Given the description of an element on the screen output the (x, y) to click on. 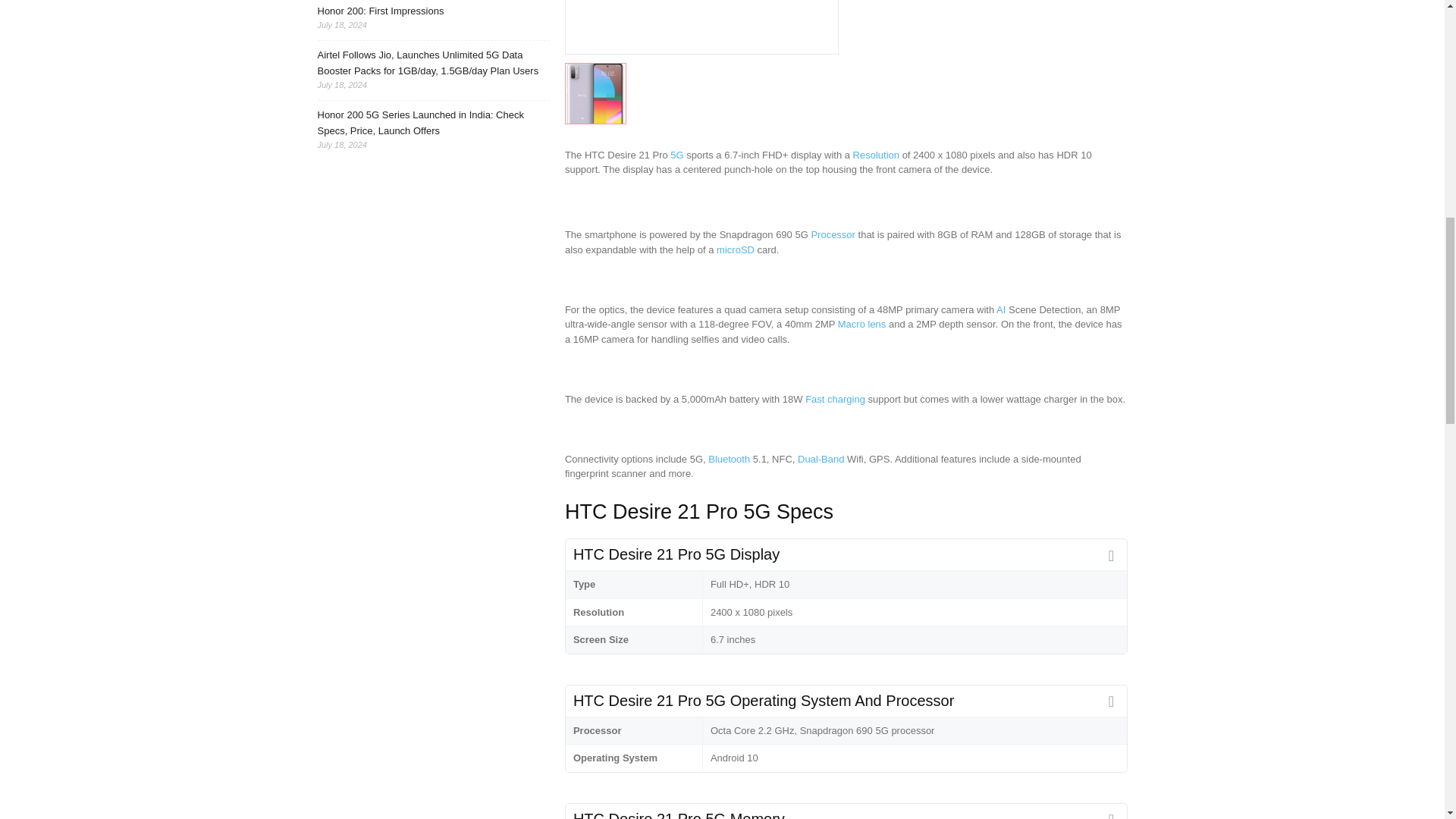
Macro lens (862, 324)
Bluetooth (728, 459)
Fast charging (834, 398)
Processor (833, 234)
Resolution (876, 154)
microSD (735, 249)
Dual-Band (820, 459)
5G (675, 154)
